Given the description of an element on the screen output the (x, y) to click on. 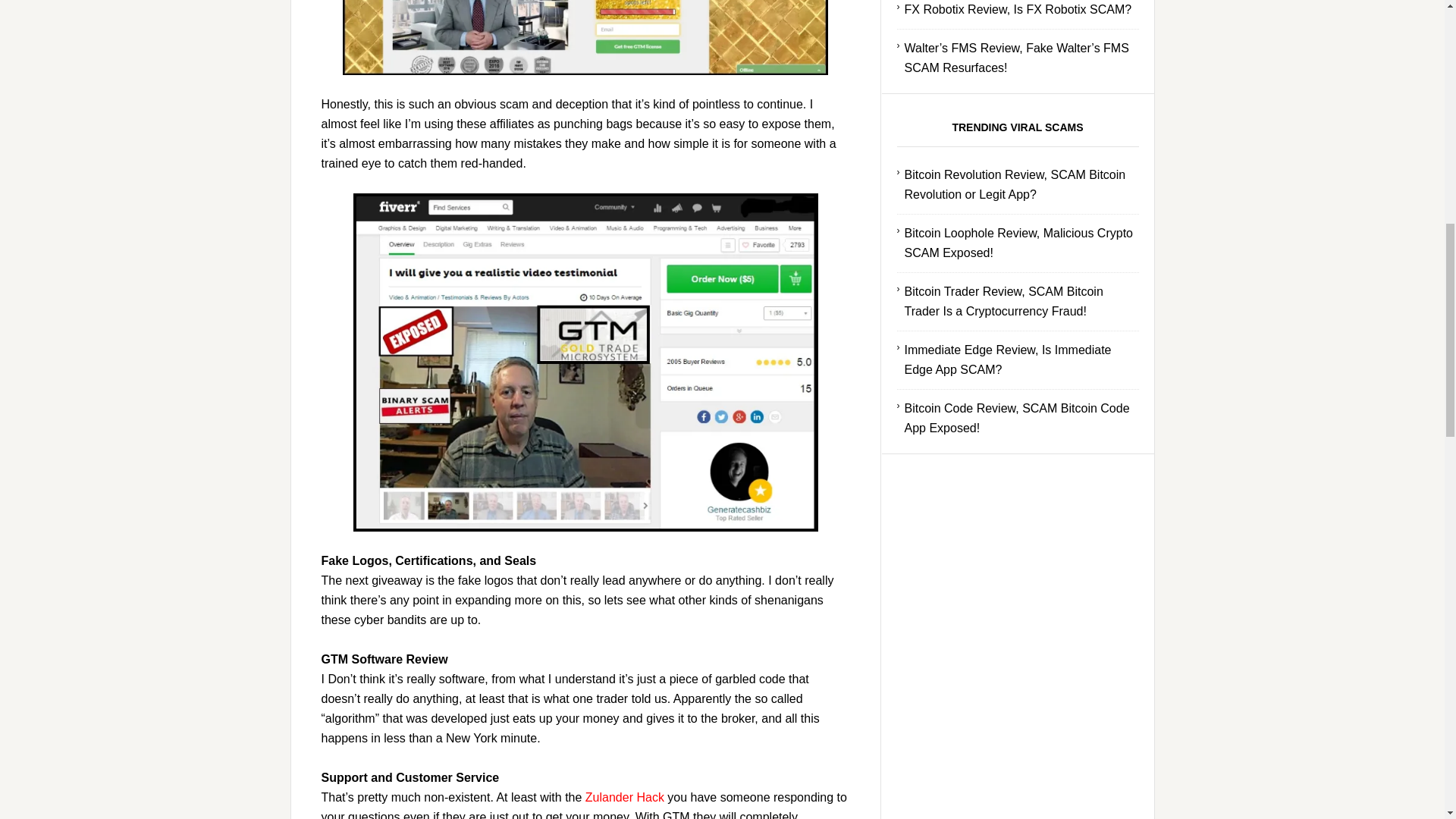
Zulander Hack (624, 797)
Gold Trade Microsystem Scam (585, 37)
